Given the description of an element on the screen output the (x, y) to click on. 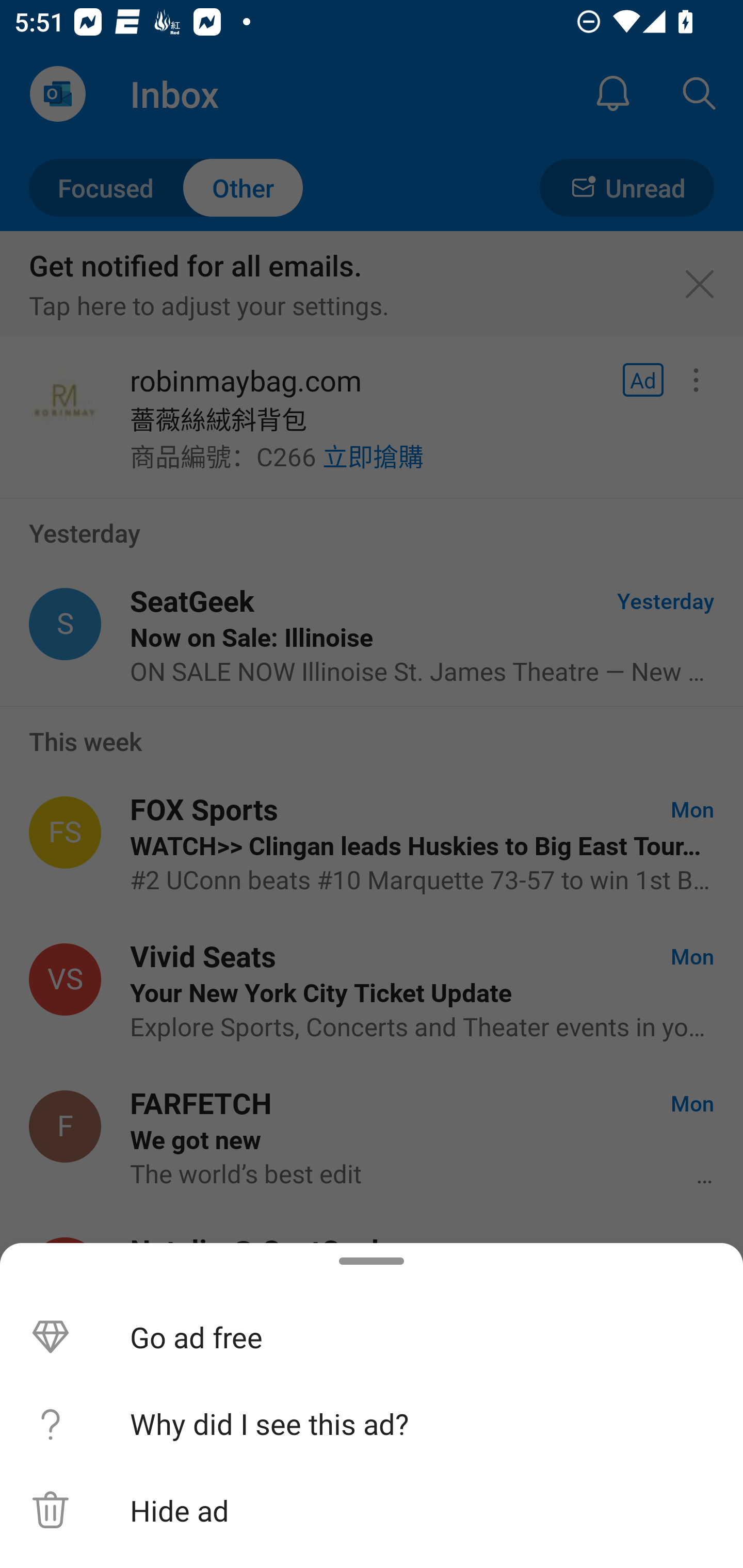
Go ad free (371, 1336)
Why did I see this ad? (371, 1423)
Hide ad (371, 1510)
